Given the description of an element on the screen output the (x, y) to click on. 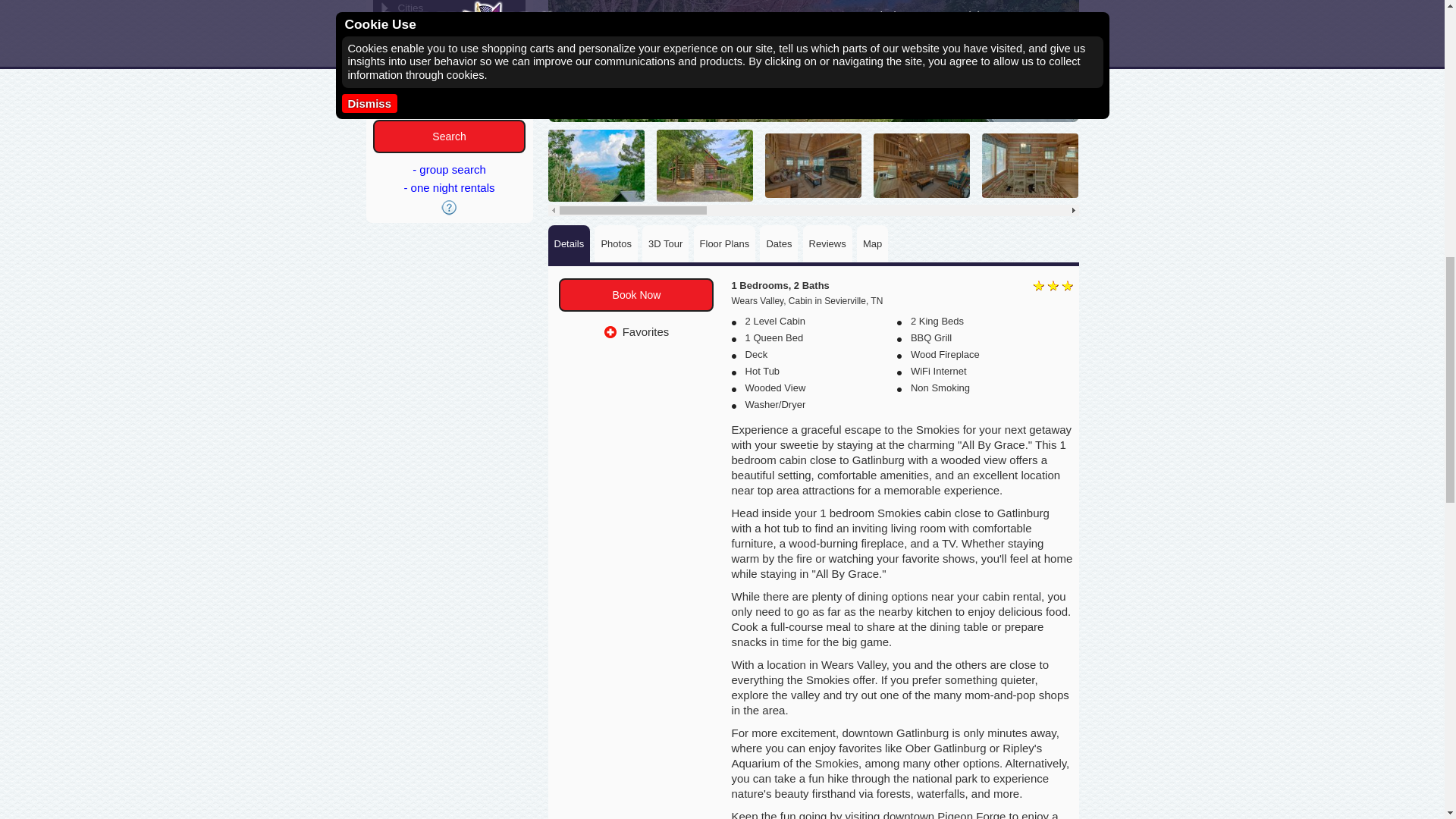
Search (448, 136)
